Given the description of an element on the screen output the (x, y) to click on. 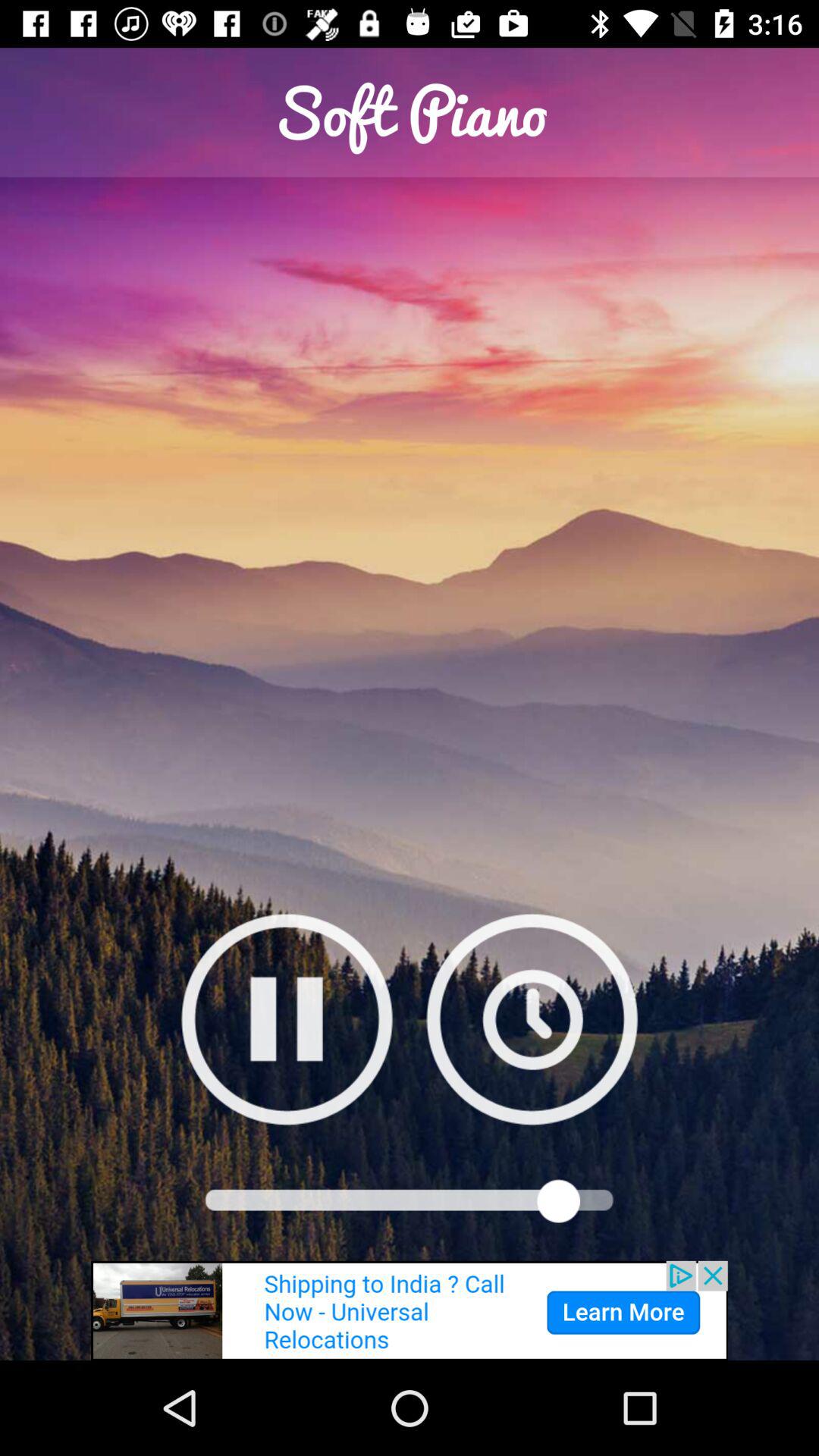
pause audio (286, 1018)
